Given the description of an element on the screen output the (x, y) to click on. 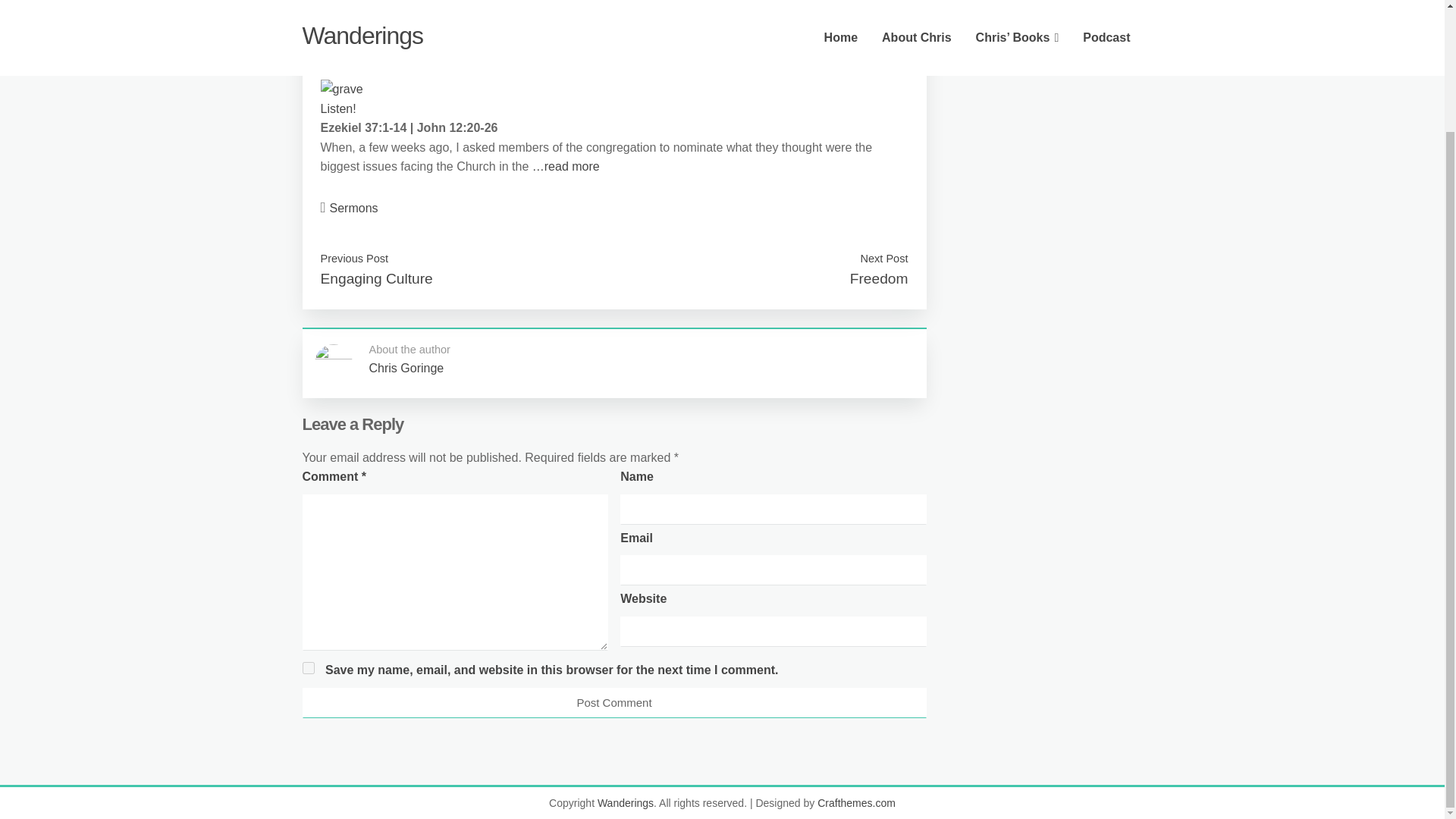
Listen! (337, 108)
Freedom (879, 278)
Previous Post (354, 258)
Post Comment (613, 702)
Next Post (883, 258)
Wanderings (624, 802)
Engaging Culture (376, 278)
yes (307, 667)
Sermons (354, 207)
Crafthemes.com (855, 802)
Chris Goringe (406, 367)
Post Comment (613, 702)
